Given the description of an element on the screen output the (x, y) to click on. 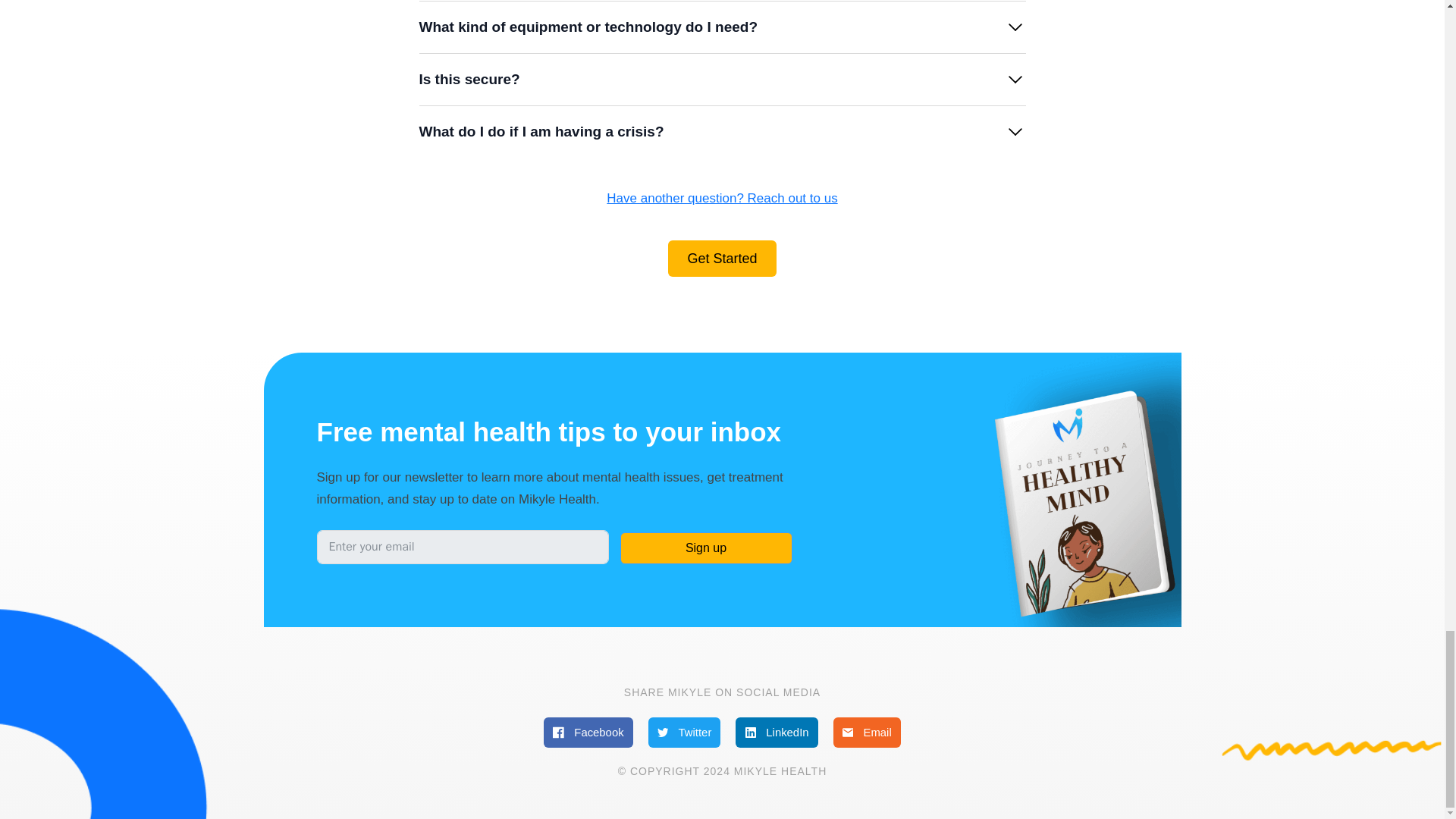
Get Started (722, 258)
Sign up (706, 548)
Have another question? Reach out to us (722, 198)
